Given the description of an element on the screen output the (x, y) to click on. 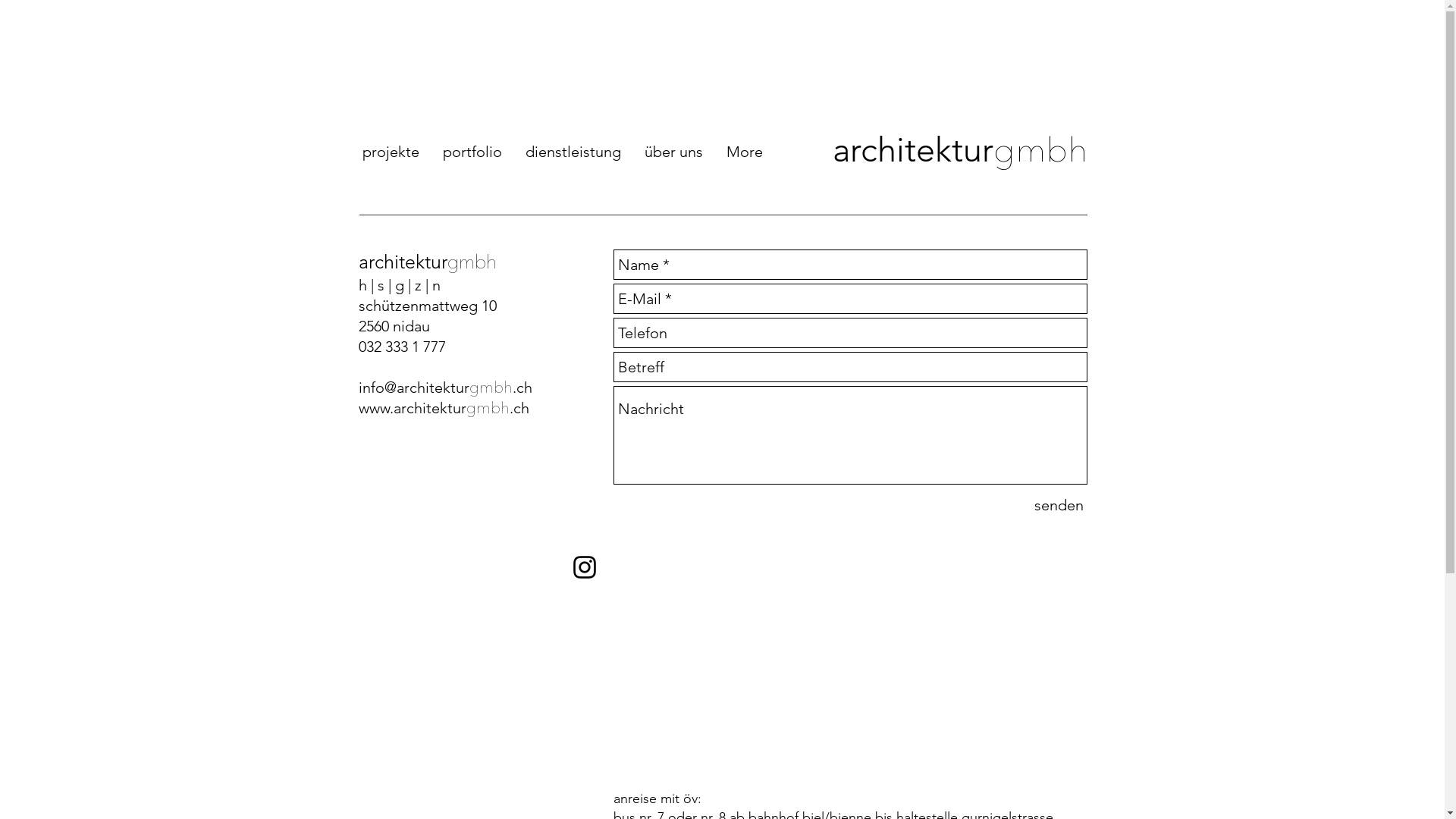
.ch Element type: text (519, 407)
gmbh Element type: text (489, 387)
projekte Element type: text (389, 152)
.ch Element type: text (522, 387)
www.architektur Element type: text (411, 407)
gmbh Element type: text (486, 408)
info@architektur Element type: text (412, 387)
portfolio Element type: text (471, 152)
Google Maps Element type: hover (849, 657)
architekturgmbh Element type: text (959, 148)
dienstleistung Element type: text (571, 152)
senden Element type: text (1057, 504)
